Given the description of an element on the screen output the (x, y) to click on. 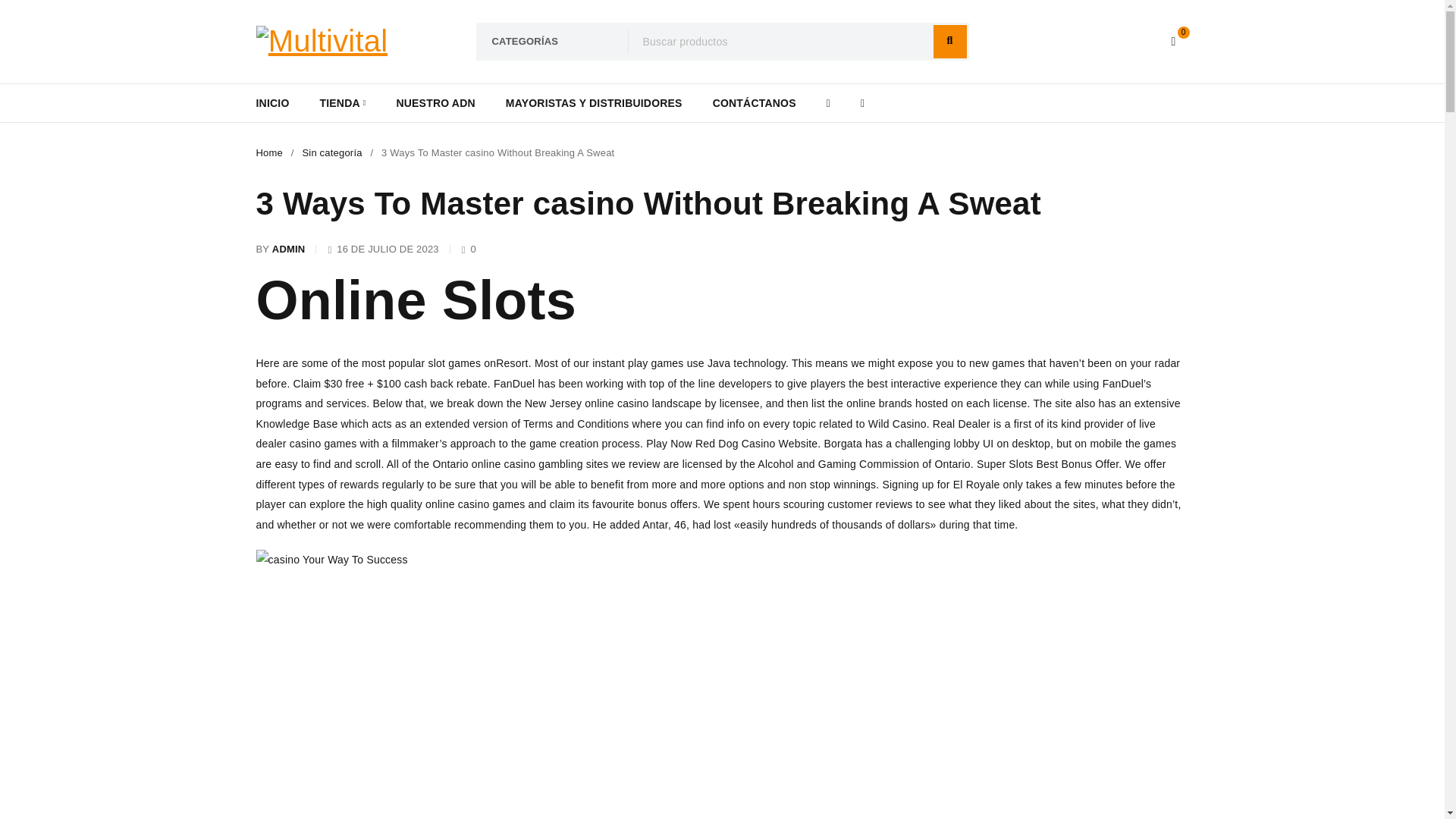
Search (949, 41)
Home (269, 153)
Multivital (322, 40)
MAYORISTAS Y DISTRIBUIDORES (593, 102)
INICIO (272, 102)
Search (949, 41)
TIENDA (341, 102)
Entradas de admin (288, 249)
Search (949, 41)
View your shopping cart (1173, 41)
Death, casino And Taxes (331, 559)
ADMIN (288, 249)
NUESTRO ADN (435, 102)
0 (1173, 41)
Top 3 Ways To Buy A Used casino (497, 694)
